Given the description of an element on the screen output the (x, y) to click on. 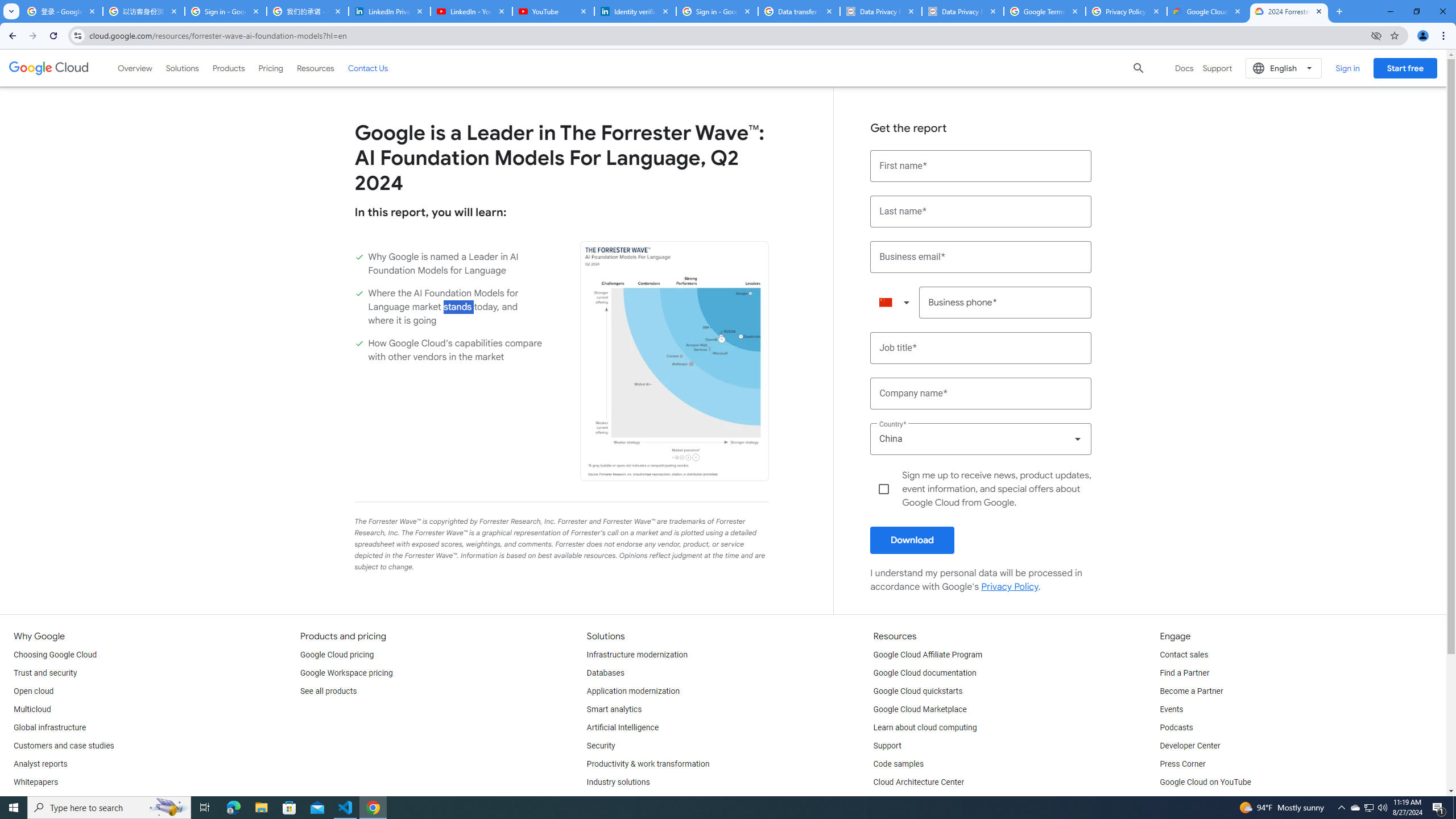
Google Cloud Affiliate Program (927, 655)
Google Cloud Marketplace (919, 710)
Learn about cloud computing (924, 728)
Download (912, 539)
Press Corner (1181, 764)
Developer Center (1189, 746)
Events (1170, 710)
Google Cloud quickstarts (917, 691)
Industry solutions (617, 782)
Last name* (981, 211)
Business email* (981, 256)
